Given the description of an element on the screen output the (x, y) to click on. 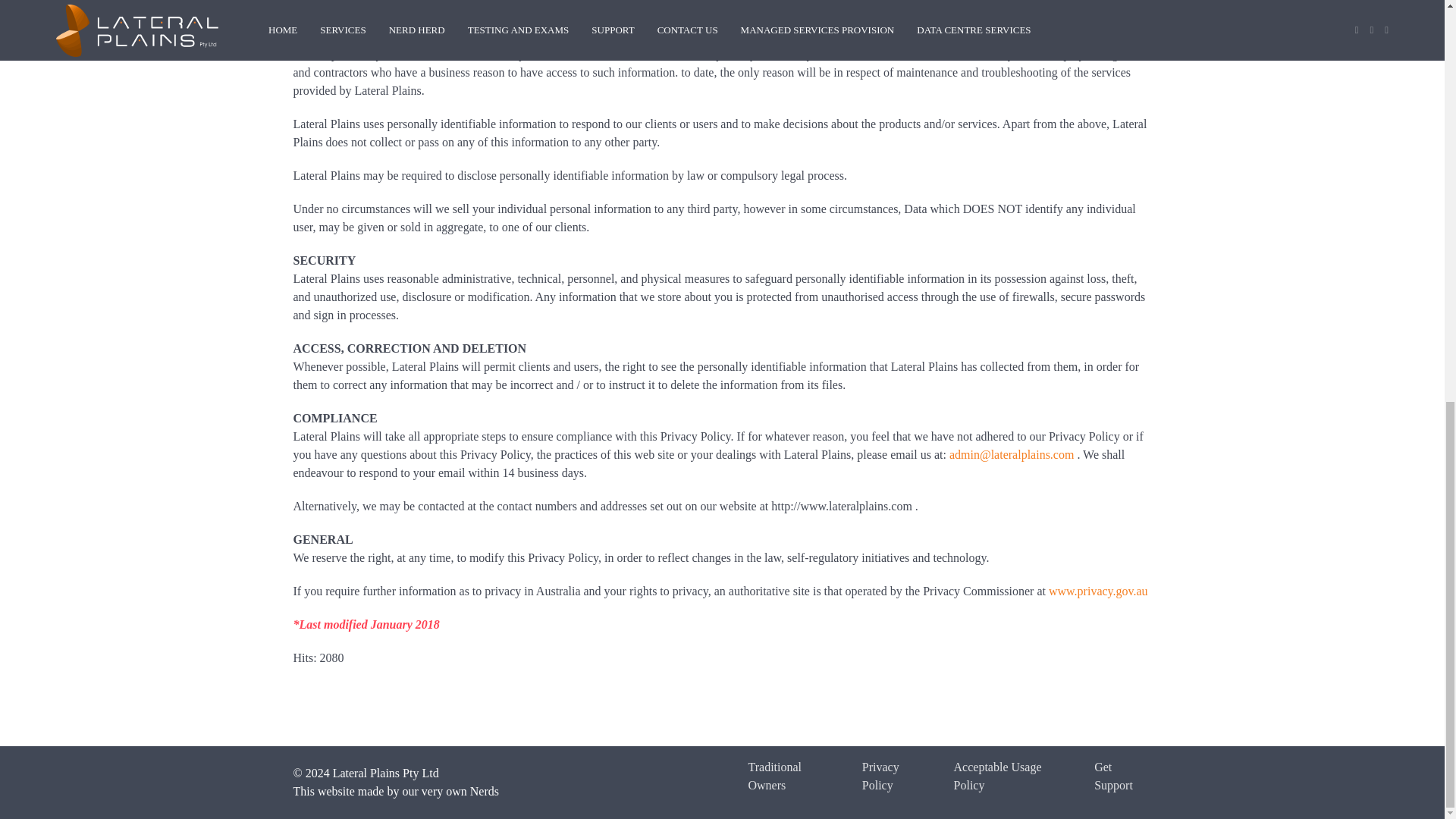
Acceptable Usage Policy (1012, 776)
Traditional Owners (793, 776)
Get Support (1122, 776)
Privacy Policy (896, 776)
www.privacy.gov.au (1098, 590)
